Given the description of an element on the screen output the (x, y) to click on. 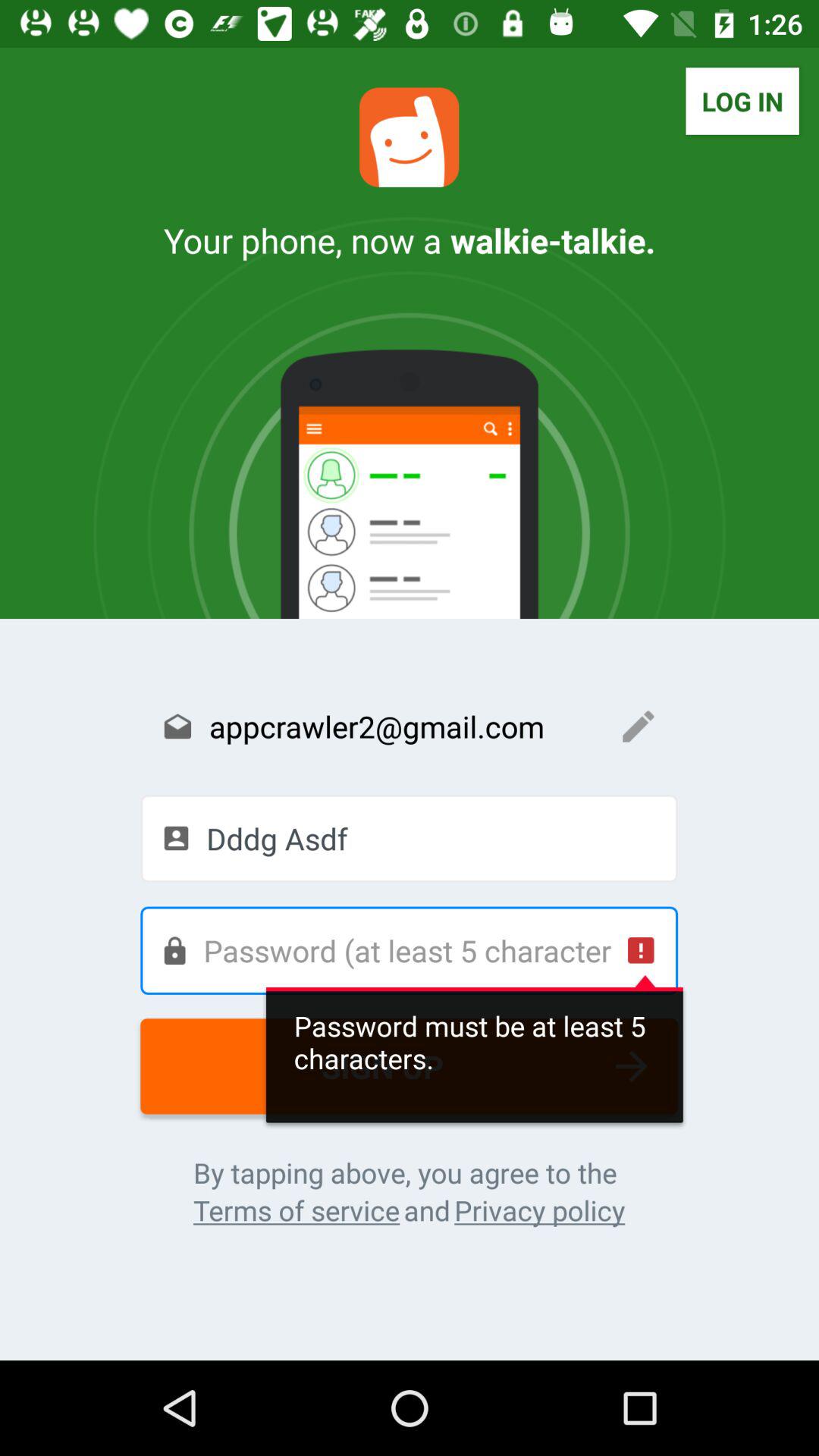
swipe until the dddg asdf (408, 838)
